Given the description of an element on the screen output the (x, y) to click on. 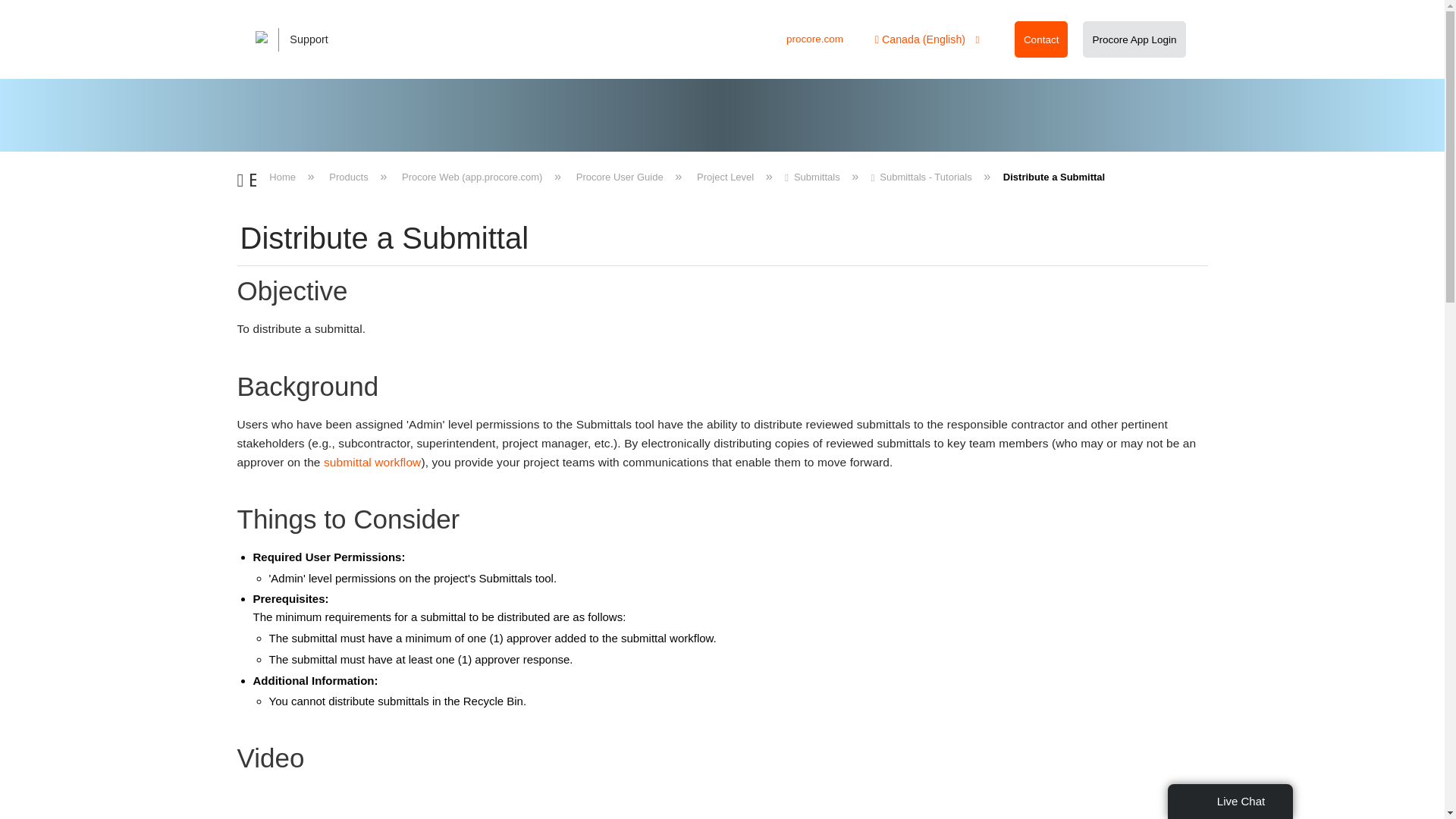
Home (283, 176)
Contact (1041, 39)
Support (301, 38)
Live Chat (1229, 801)
Submittals - Tutorials (922, 176)
Procore App Login (1134, 39)
procore.com (814, 39)
Products (348, 176)
Project Level (725, 176)
Submittals (813, 176)
